Given the description of an element on the screen output the (x, y) to click on. 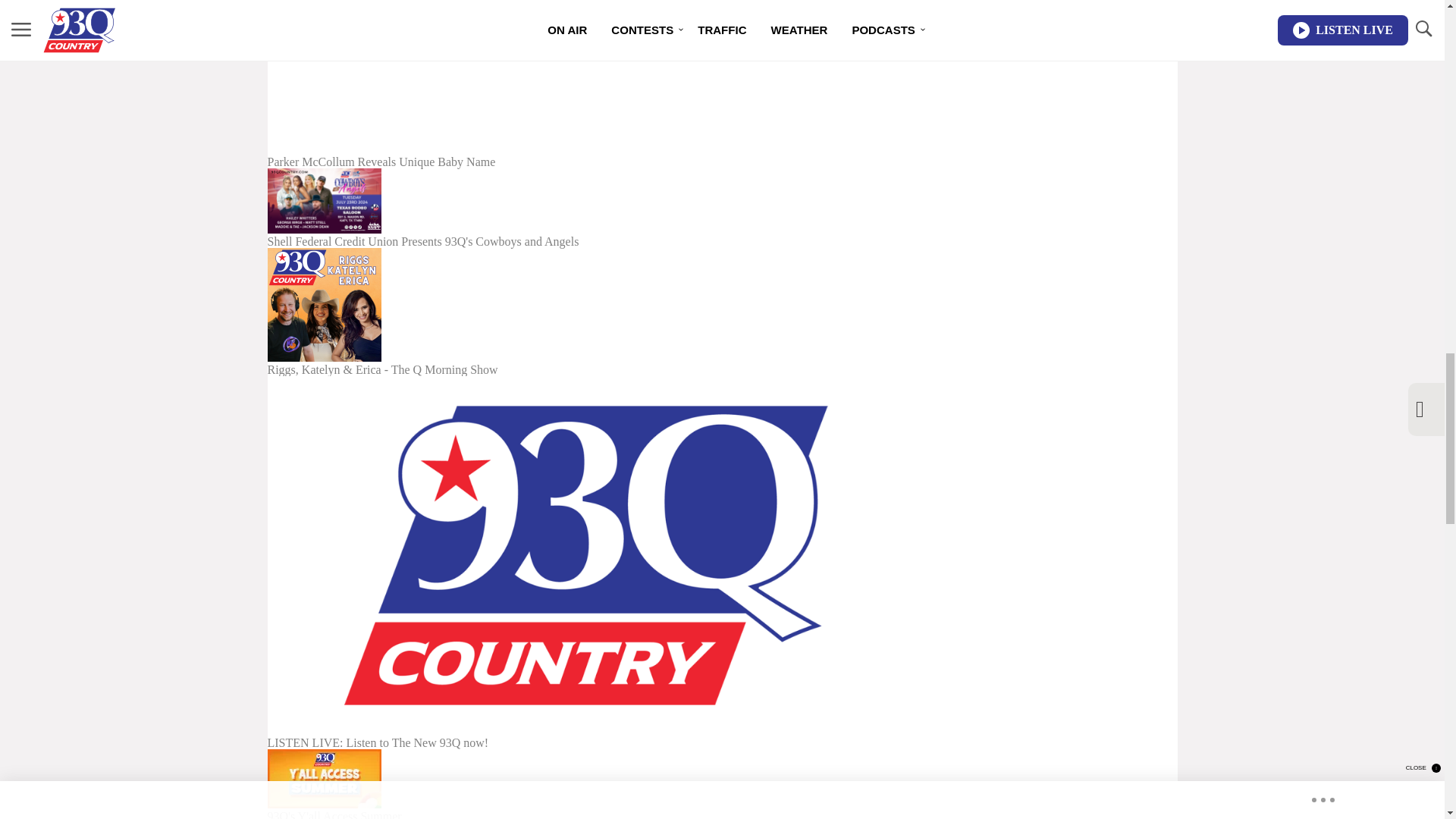
Parker McCollum Reveals Unique Baby Name (585, 84)
93Q's Y'all Access Summer (585, 784)
Shell Federal Credit Union Presents 93Q's Cowboys and Angels (585, 208)
